Given the description of an element on the screen output the (x, y) to click on. 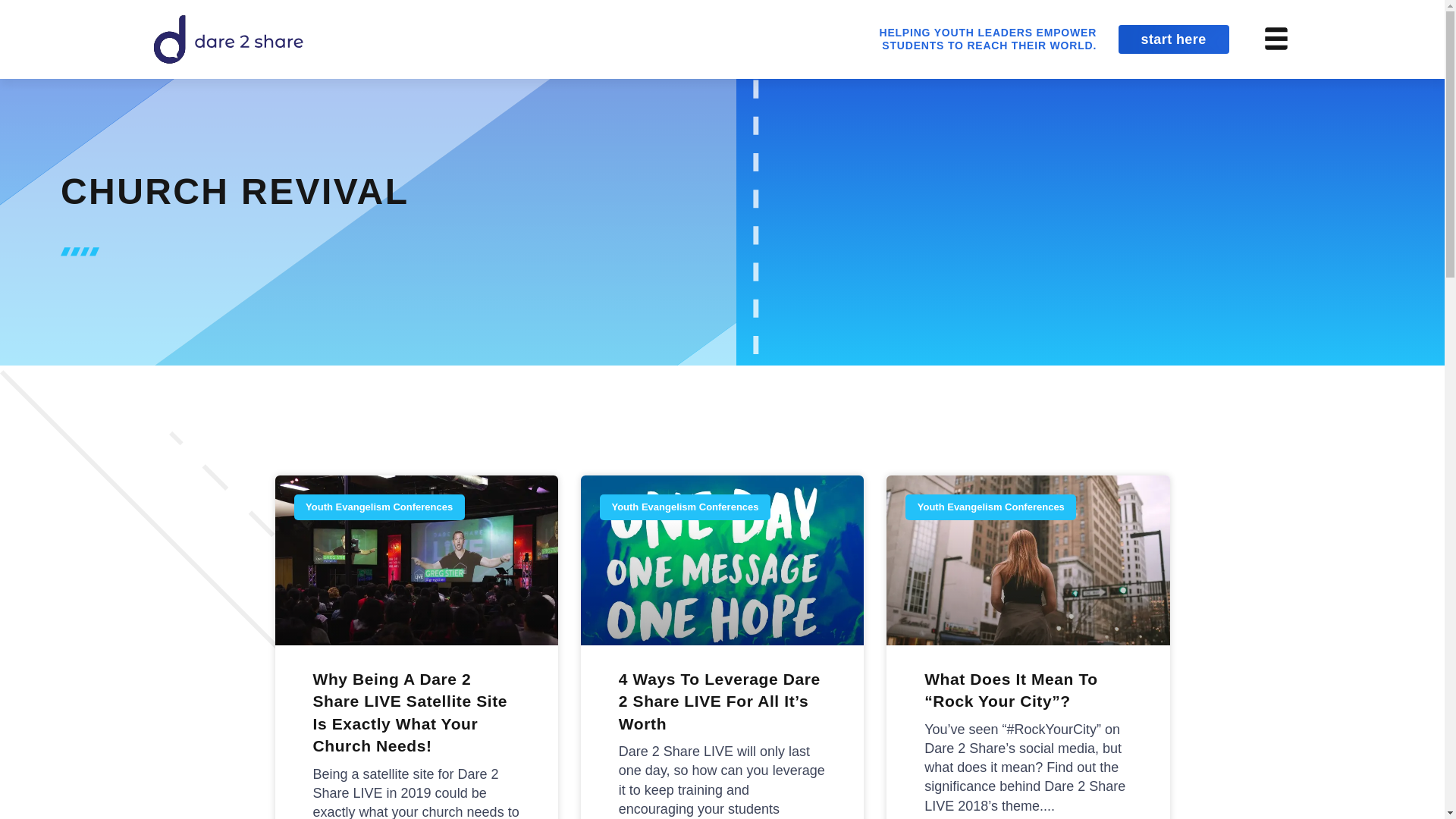
start here (1173, 39)
